Given the description of an element on the screen output the (x, y) to click on. 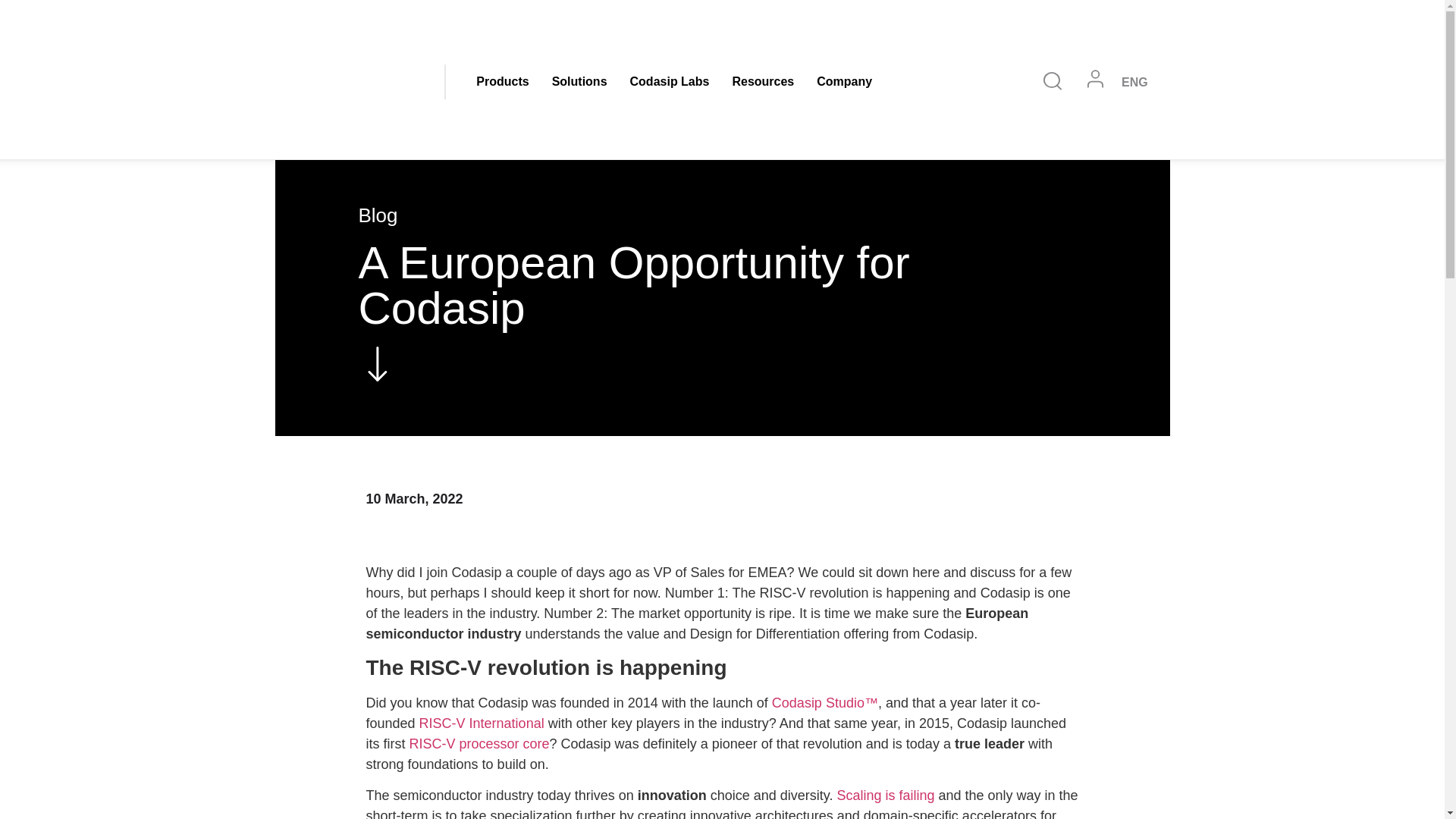
Codasip Labs (669, 81)
Company (844, 81)
Solutions (579, 81)
Products (502, 81)
Resources (762, 81)
